Given the description of an element on the screen output the (x, y) to click on. 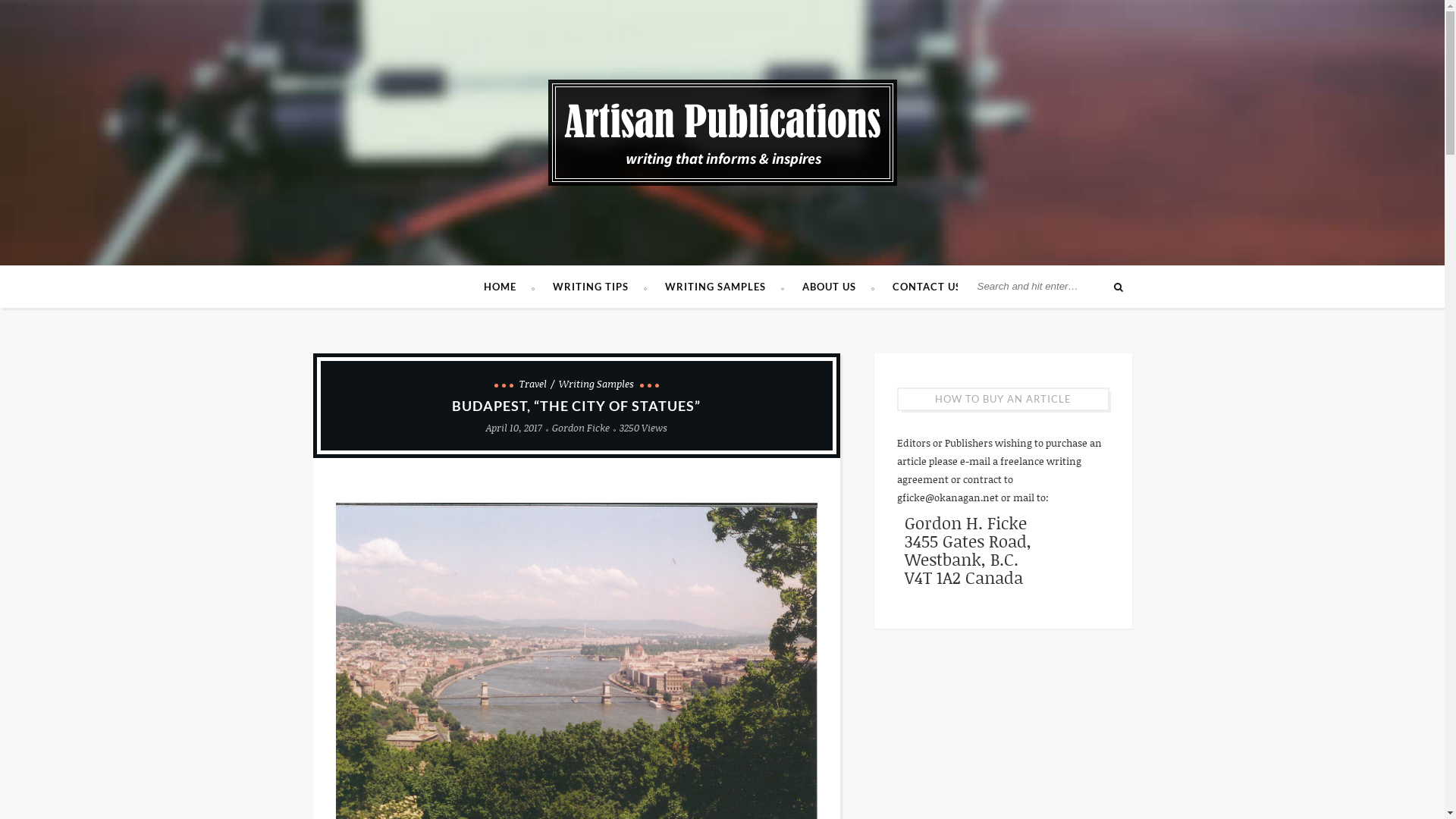
Gordon Ficke Element type: text (580, 427)
Writing Samples Element type: text (595, 383)
gficke@okanagan.net Element type: text (946, 497)
Travel Element type: text (536, 383)
WRITING SAMPLES Element type: text (723, 286)
CONTACT US Element type: text (925, 286)
3250 Views Element type: text (642, 427)
HOME Element type: text (508, 286)
ABOUT US Element type: text (838, 286)
WRITING TIPS Element type: text (599, 286)
Search for: Element type: hover (1047, 286)
